Given the description of an element on the screen output the (x, y) to click on. 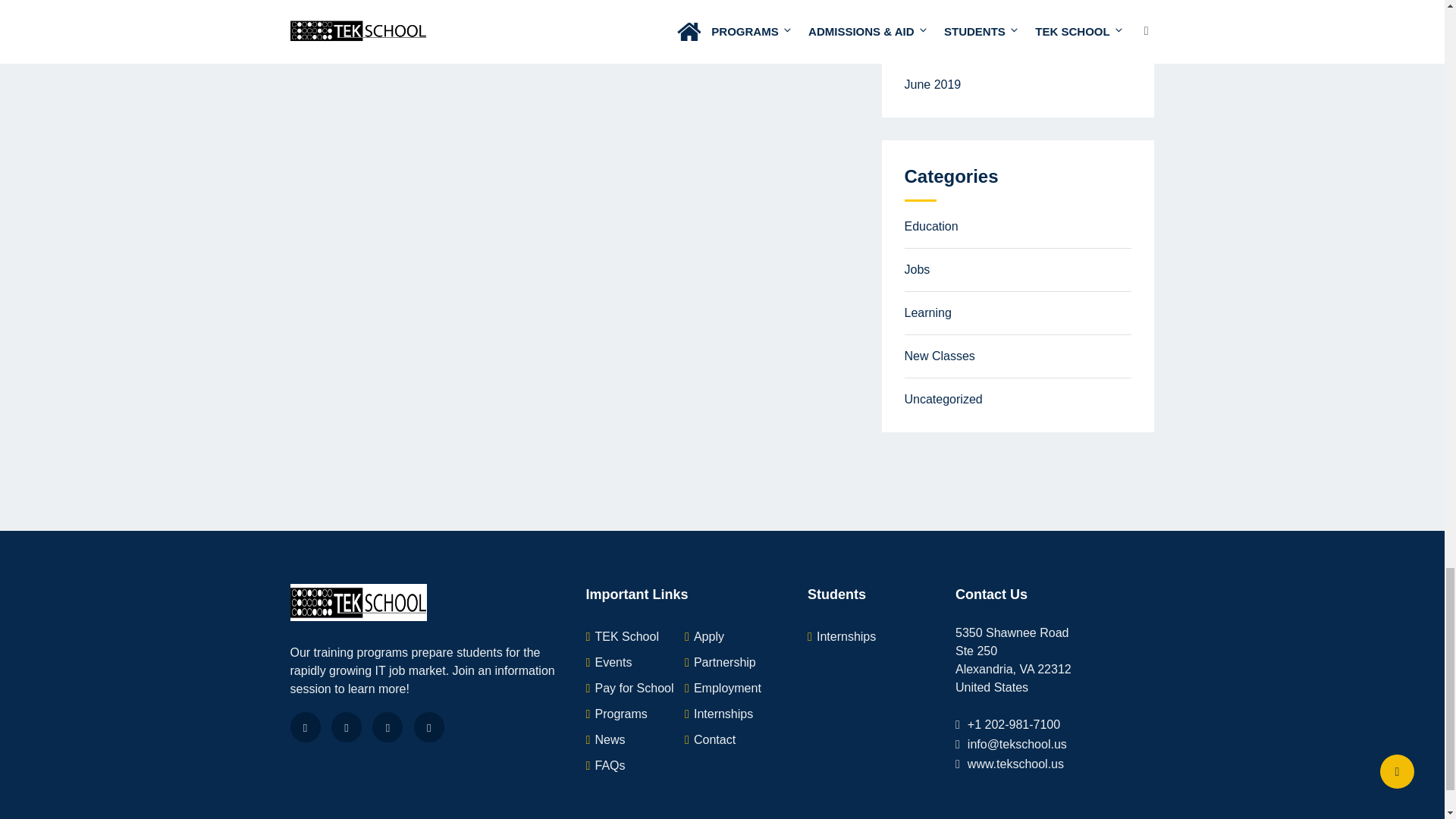
Twitter (346, 726)
Youtube (387, 726)
Instagram (428, 726)
Facebook (304, 726)
